Given the description of an element on the screen output the (x, y) to click on. 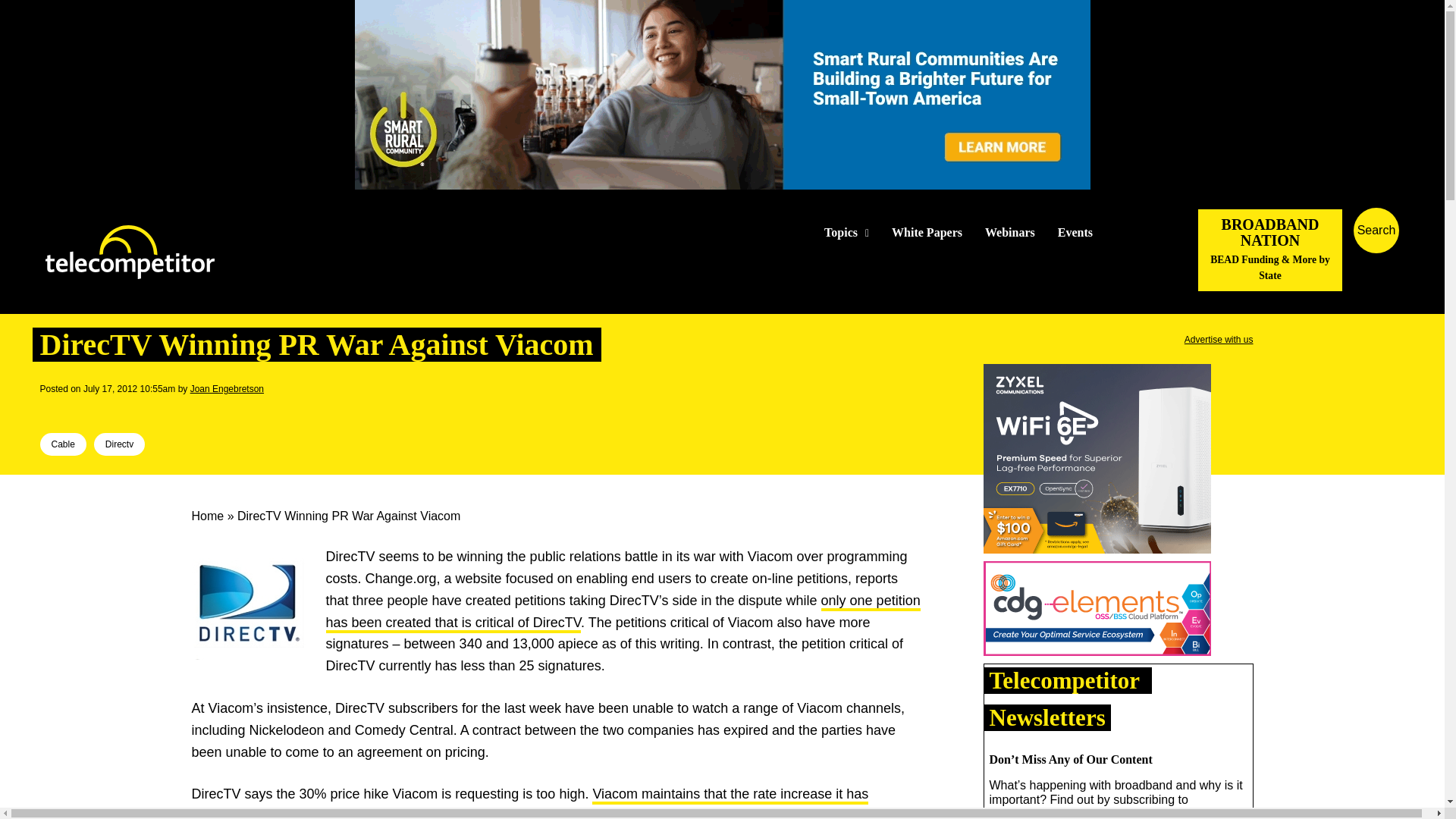
Events (1074, 232)
Search telecompetitor.com (1376, 230)
Topics (846, 232)
Webinars (1010, 232)
White Papers (927, 232)
Share on Linked In (99, 409)
DirecTV (247, 603)
Follow Us on Twitter (1127, 232)
Pinterest (124, 409)
Follow Us on LinkedIN (1151, 232)
Spread the word on Twitter (75, 409)
Share on Facebook (51, 409)
Search (1430, 253)
